Given the description of an element on the screen output the (x, y) to click on. 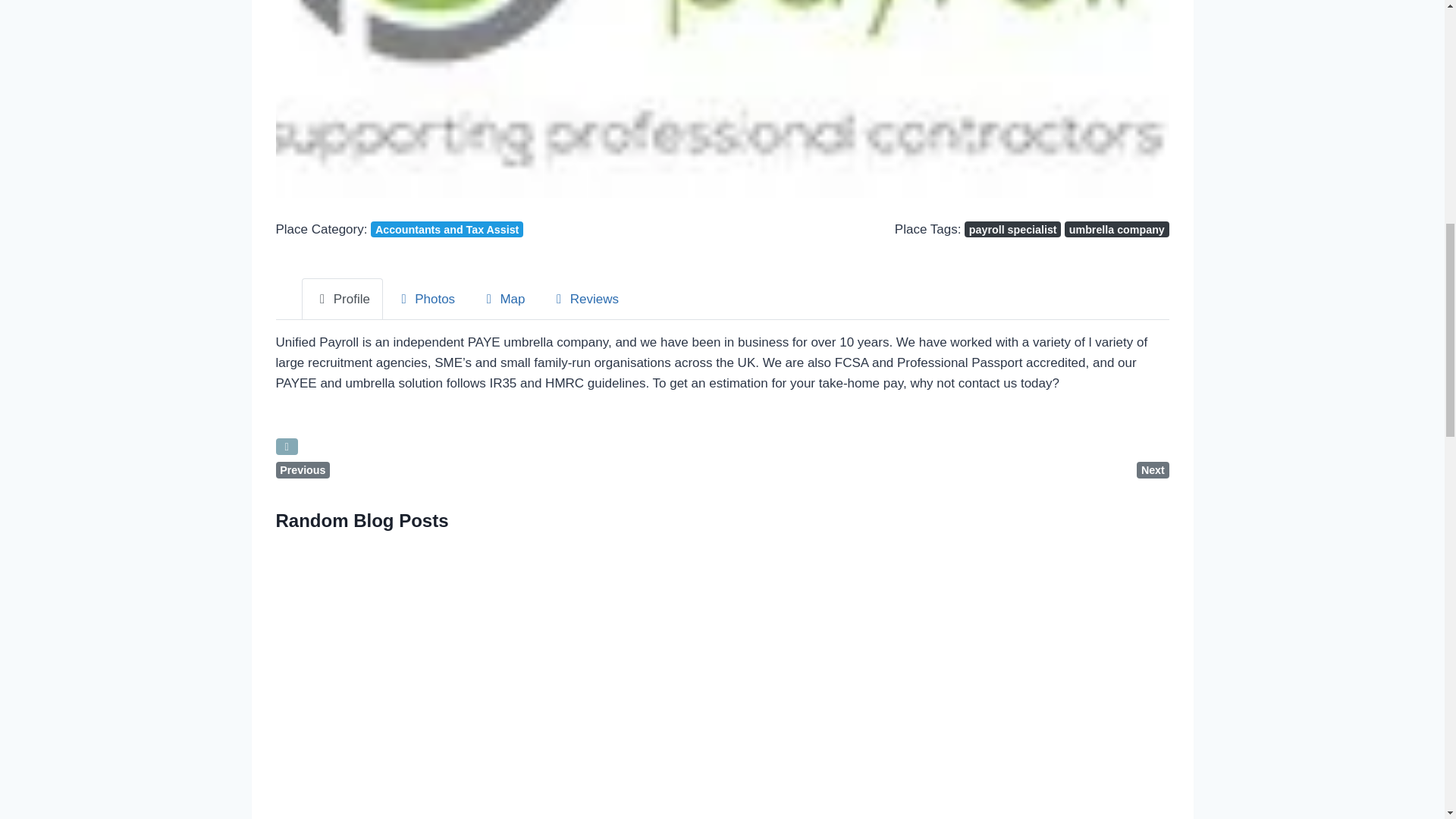
payroll specialist (1012, 229)
Photos (424, 299)
Profile (341, 299)
Map (502, 299)
Reviews (584, 299)
Reviews (584, 299)
Profile (341, 299)
Accountants and Tax Assist (446, 229)
Map (502, 299)
umbrella company (1116, 229)
Photos (424, 299)
